Given the description of an element on the screen output the (x, y) to click on. 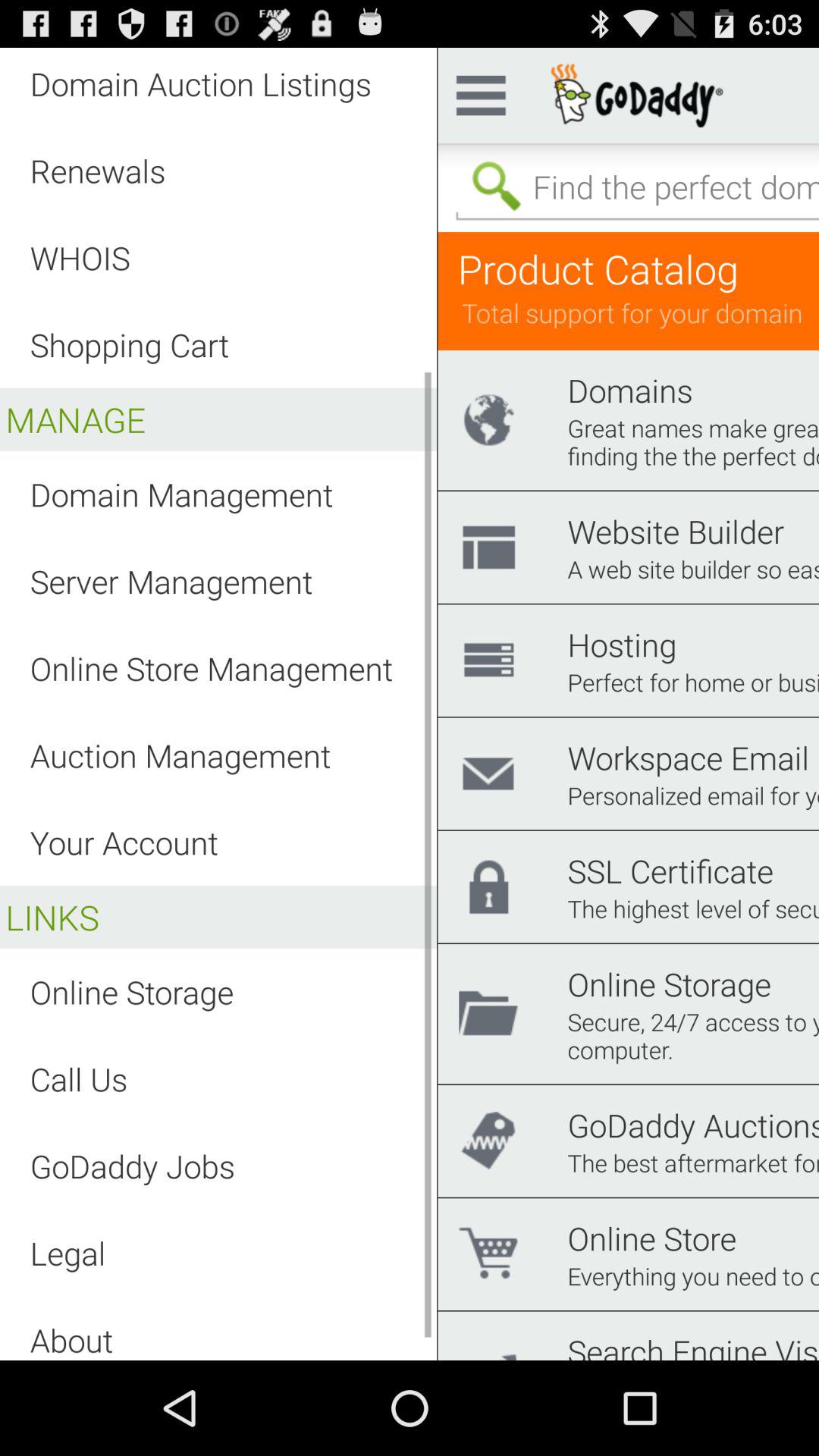
jump until hosting icon (621, 644)
